Given the description of an element on the screen output the (x, y) to click on. 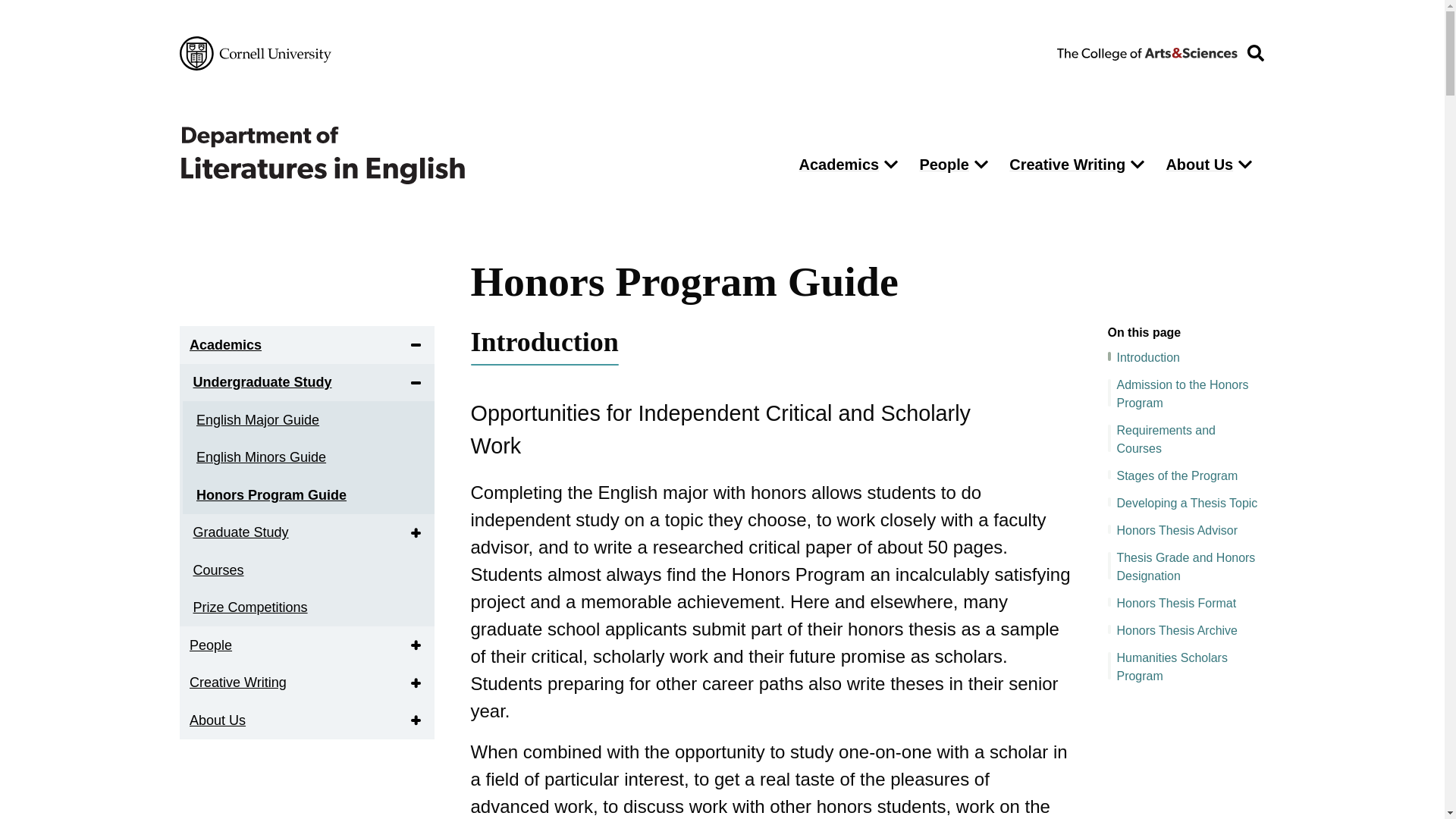
About Us (1195, 164)
People (940, 164)
Academics (224, 344)
Creative Writing (1063, 164)
Department Homepage (475, 155)
Search (975, 221)
College of Arts and Sciences (1146, 52)
Cornell University (254, 53)
Open search (1255, 53)
Cornell University (254, 53)
